Given the description of an element on the screen output the (x, y) to click on. 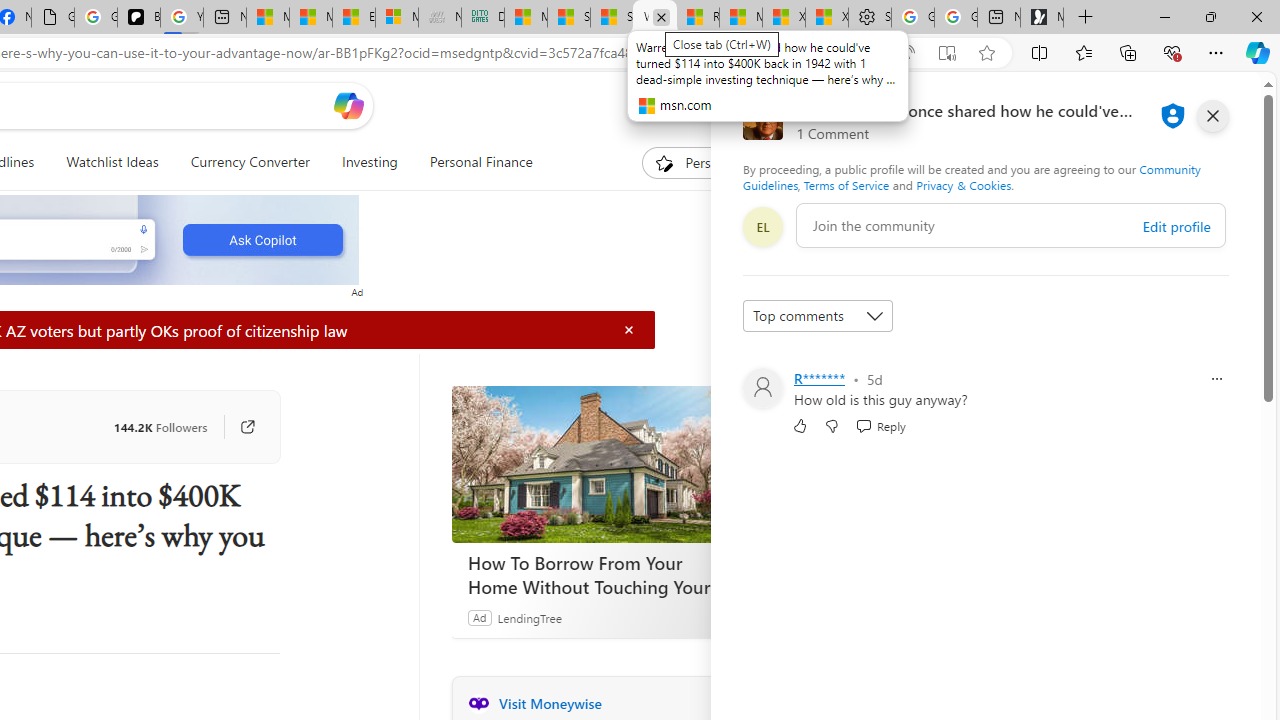
Hide (629, 329)
R******* (819, 378)
Sort comments by (817, 315)
Google Analytics Opt-out Browser Add-on Download Page (53, 17)
Reply Reply Comment (880, 425)
